Given the description of an element on the screen output the (x, y) to click on. 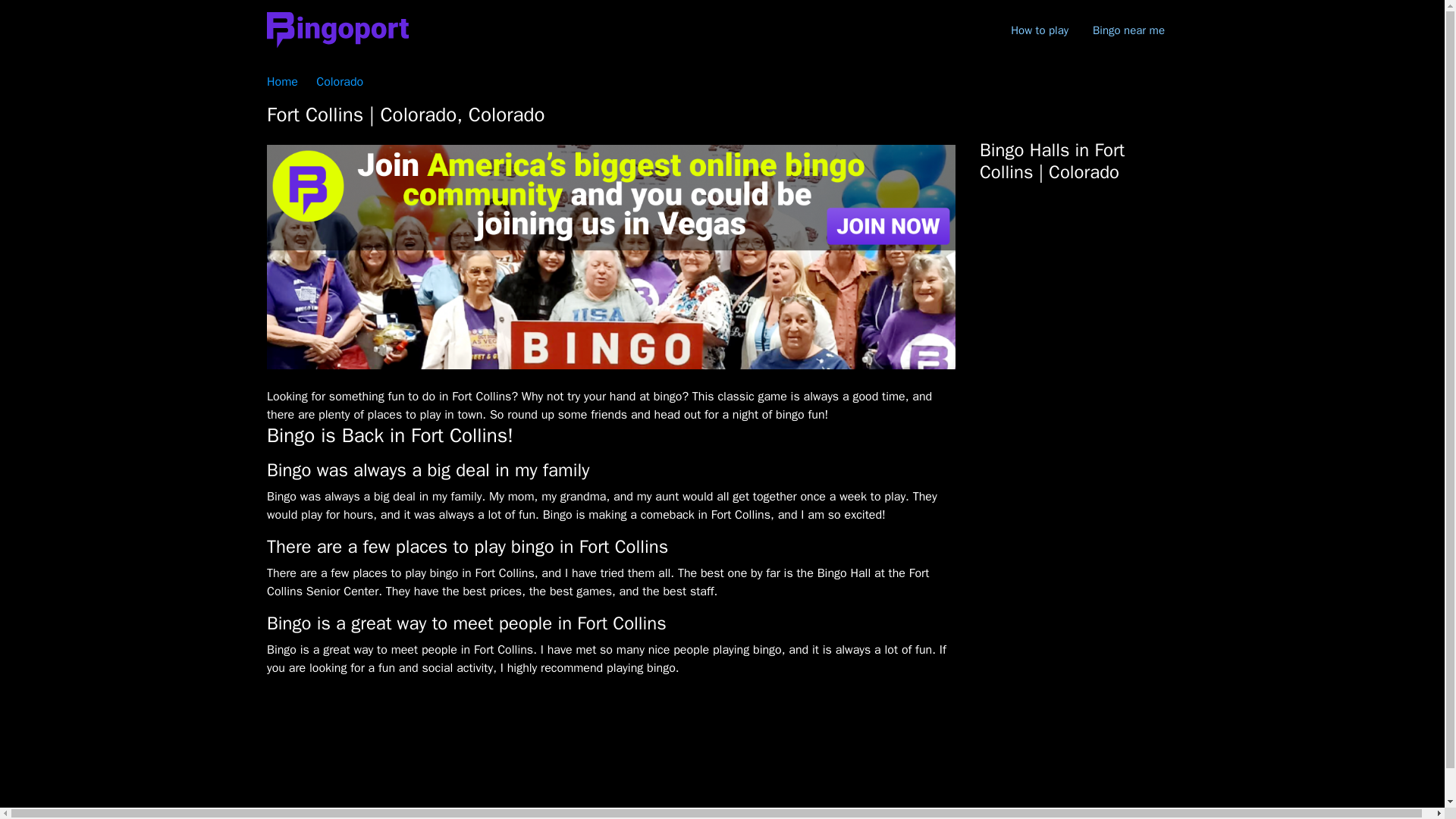
Bingo near me (1128, 30)
Home (282, 81)
How to play (1039, 30)
Colorado (338, 81)
